Given the description of an element on the screen output the (x, y) to click on. 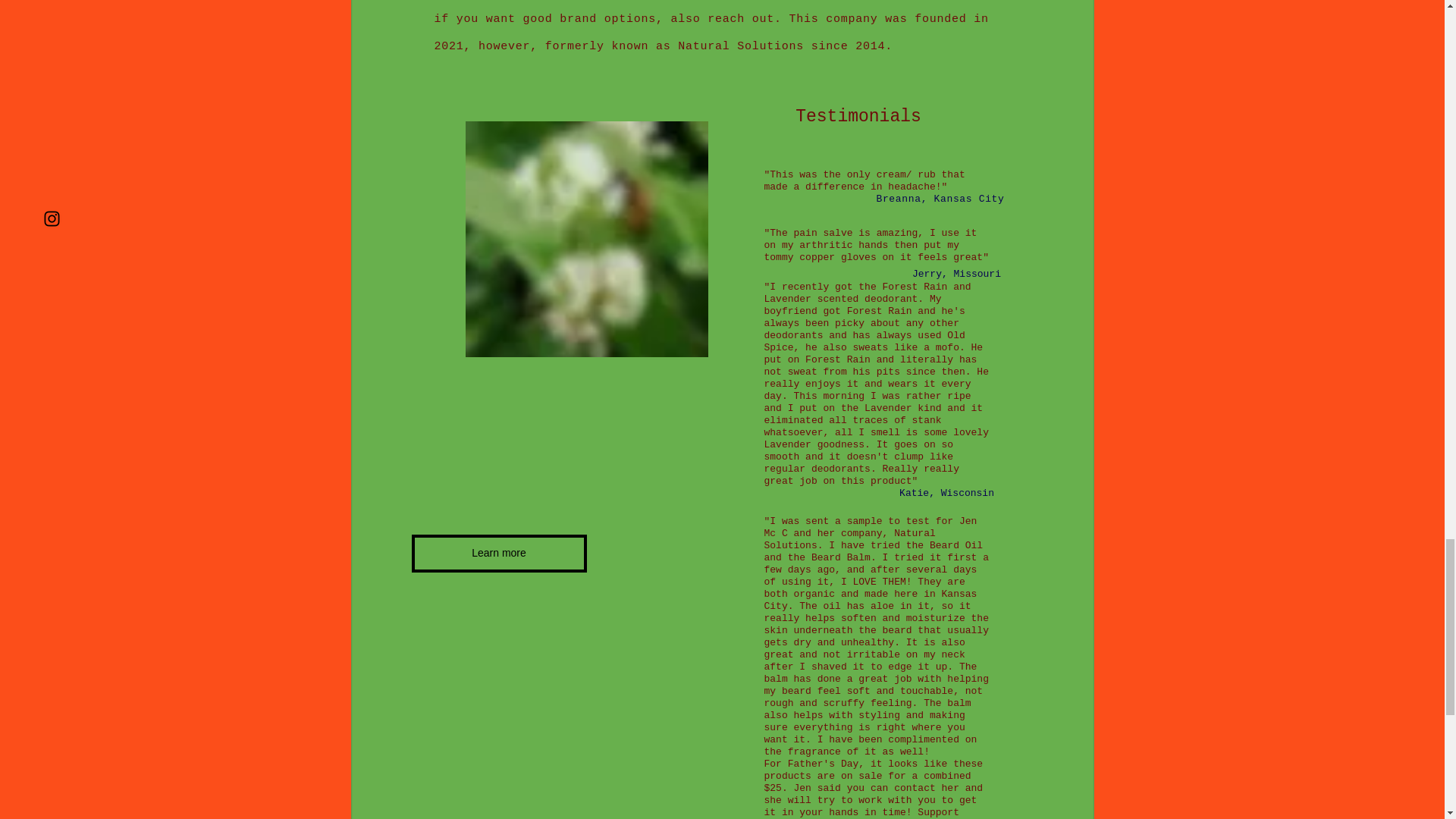
Jen Mc C (870, 526)
Learn more (498, 553)
Natural Solutions (850, 539)
